Given the description of an element on the screen output the (x, y) to click on. 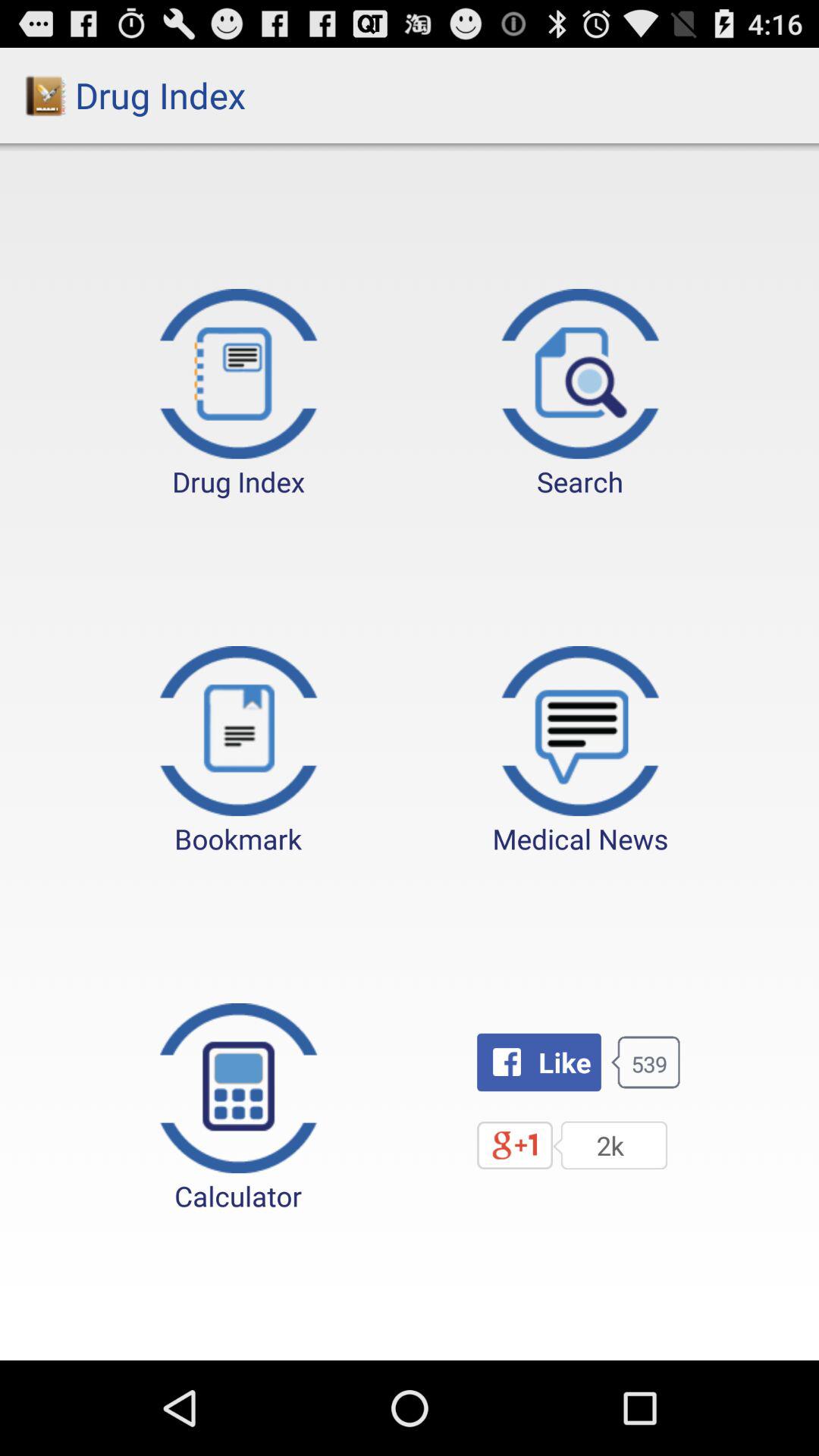
click icon below bookmark icon (238, 1108)
